Given the description of an element on the screen output the (x, y) to click on. 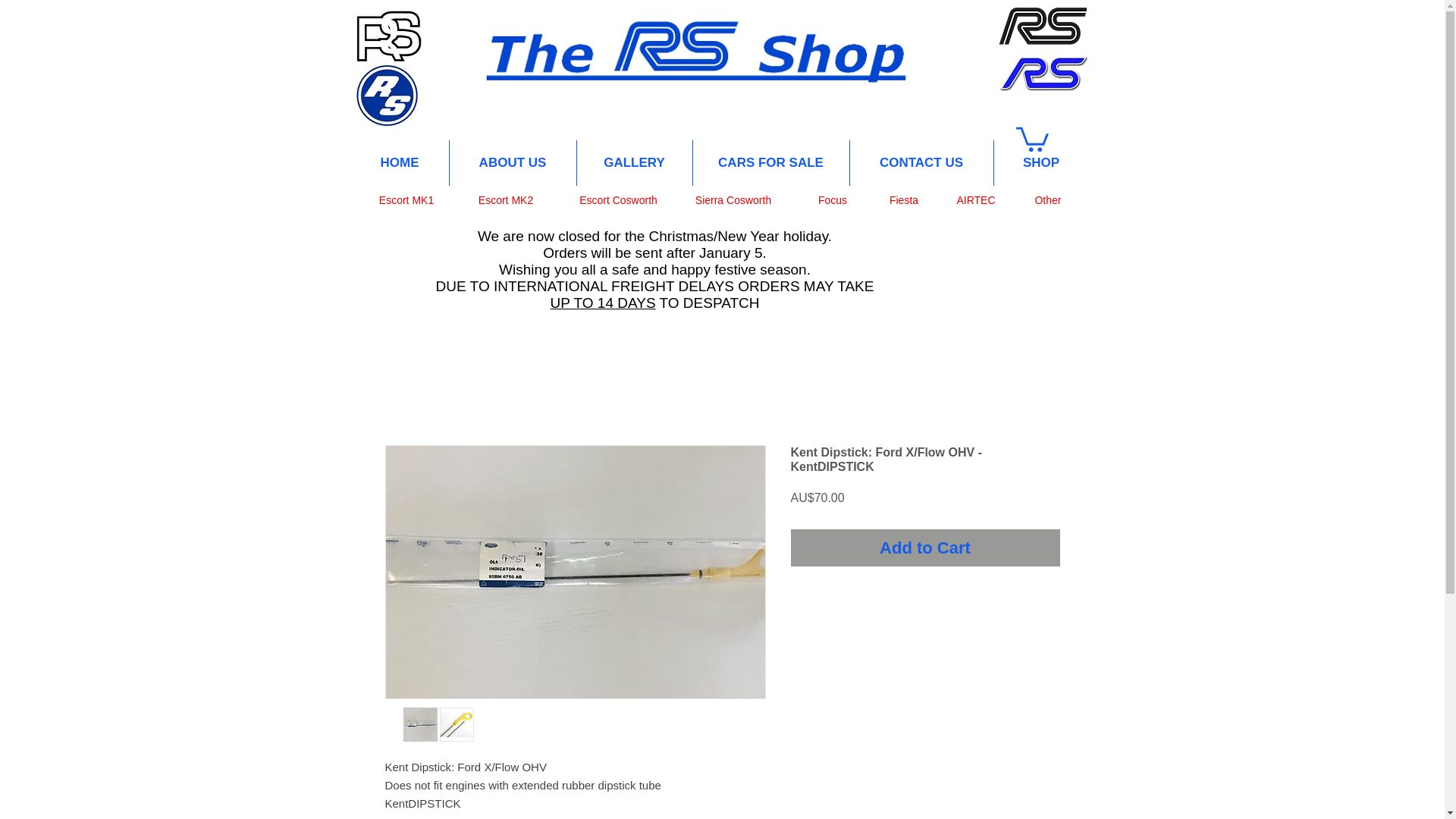
Escort MK2 (505, 200)
HOME (399, 162)
ABOUT US (511, 162)
CARS FOR SALE (770, 162)
CONTACT US (920, 162)
Escort MK1 (405, 200)
Escort Cosworth (618, 200)
Other (1047, 200)
GALLERY (633, 162)
AIRTEC (975, 200)
